Given the description of an element on the screen output the (x, y) to click on. 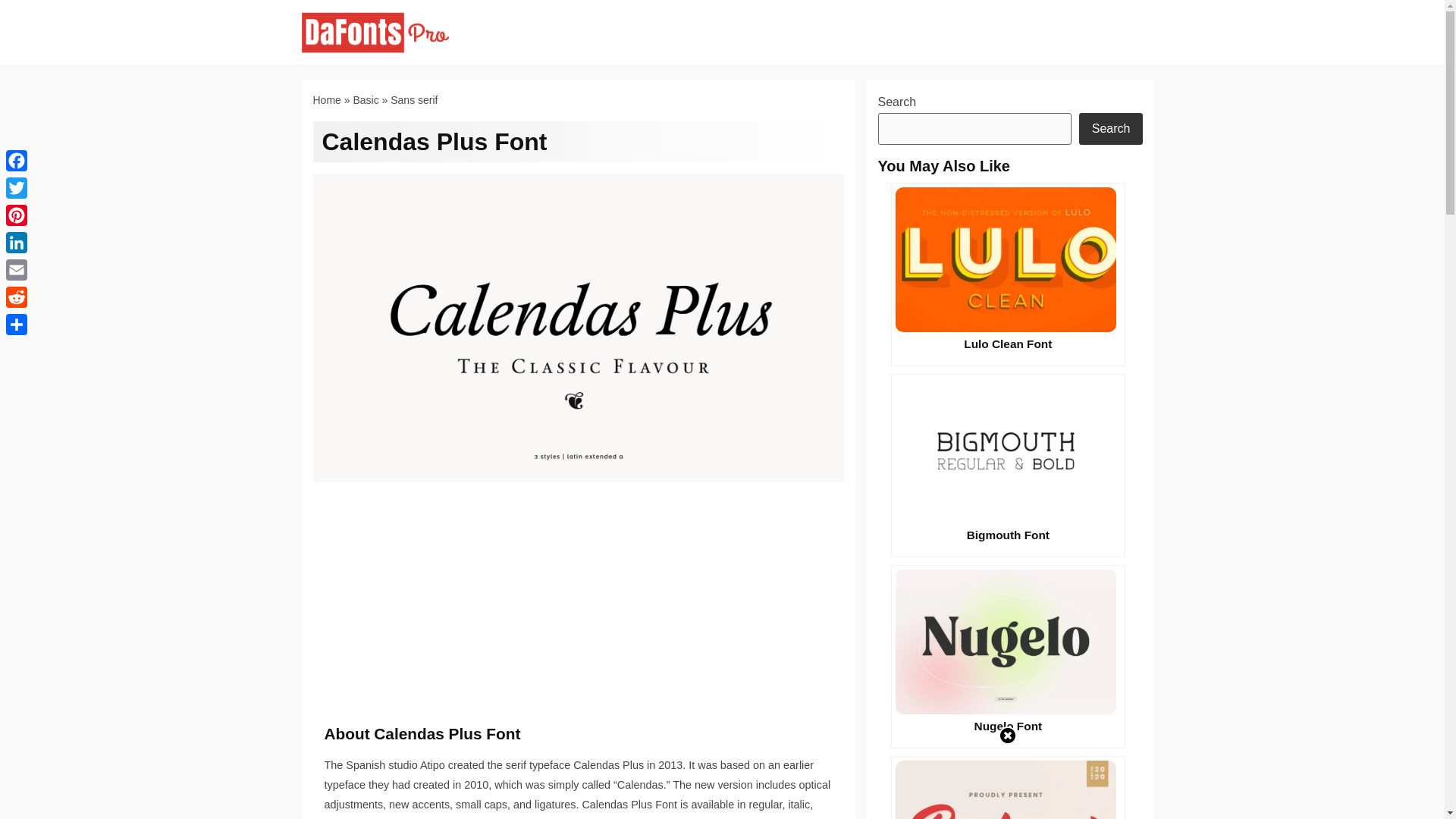
Bigmouth Font (1008, 465)
Lulo Clean Font (1008, 274)
Nugelo Font (1008, 656)
Radens Font (1008, 787)
Lulo Clean Font (1008, 274)
Bigmouth Font (1008, 465)
Nugelo Font (1008, 656)
Advertisement (578, 612)
Home (326, 100)
Basic (365, 100)
